Given the description of an element on the screen output the (x, y) to click on. 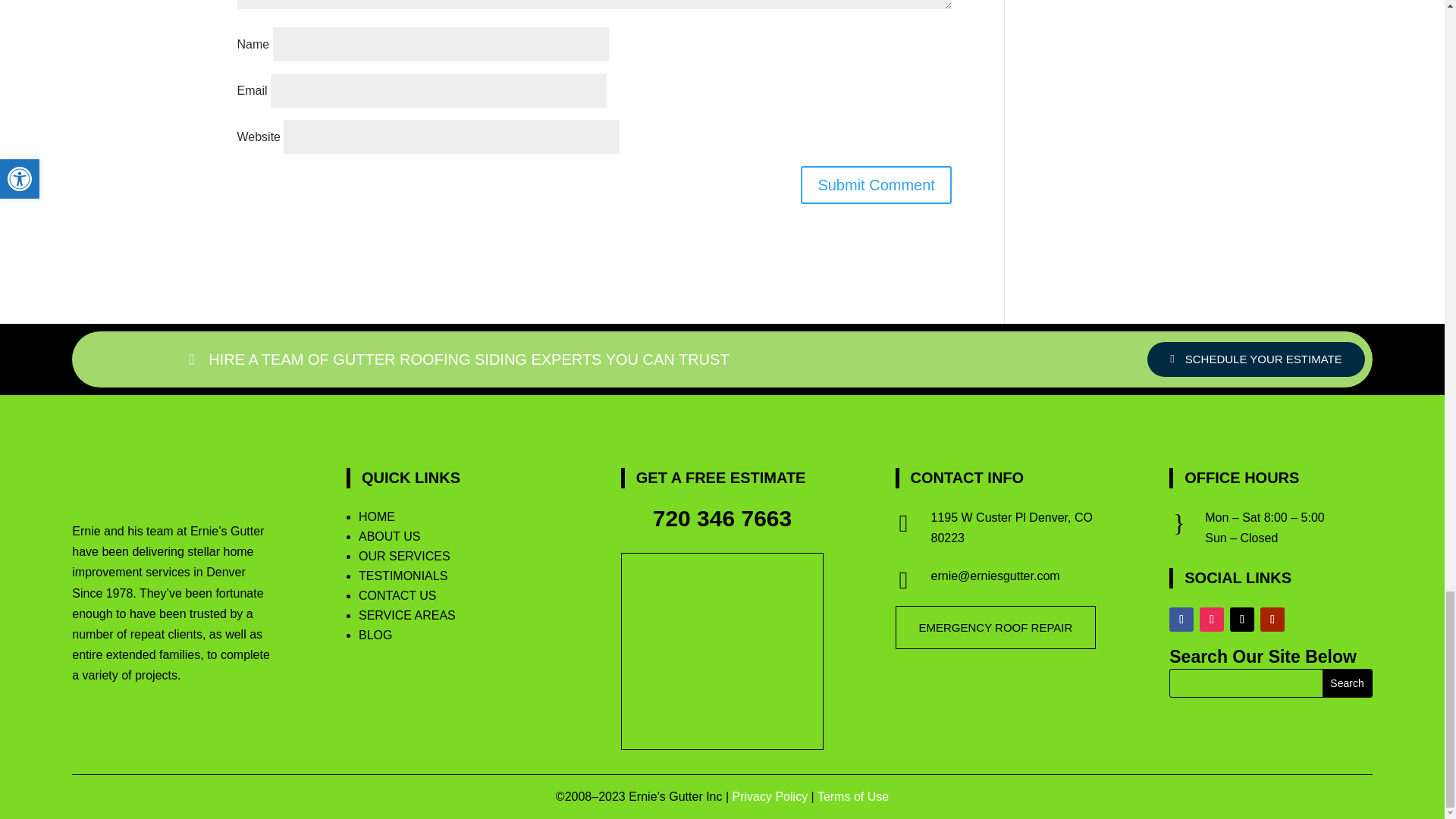
Submit Comment (876, 184)
logo-Web (104, 486)
Follow on Youtube (1272, 619)
Follow on Facebook (1181, 619)
Follow on Instagram (1211, 619)
Search (1346, 682)
Search (1346, 682)
Follow on X (1241, 619)
